Given the description of an element on the screen output the (x, y) to click on. 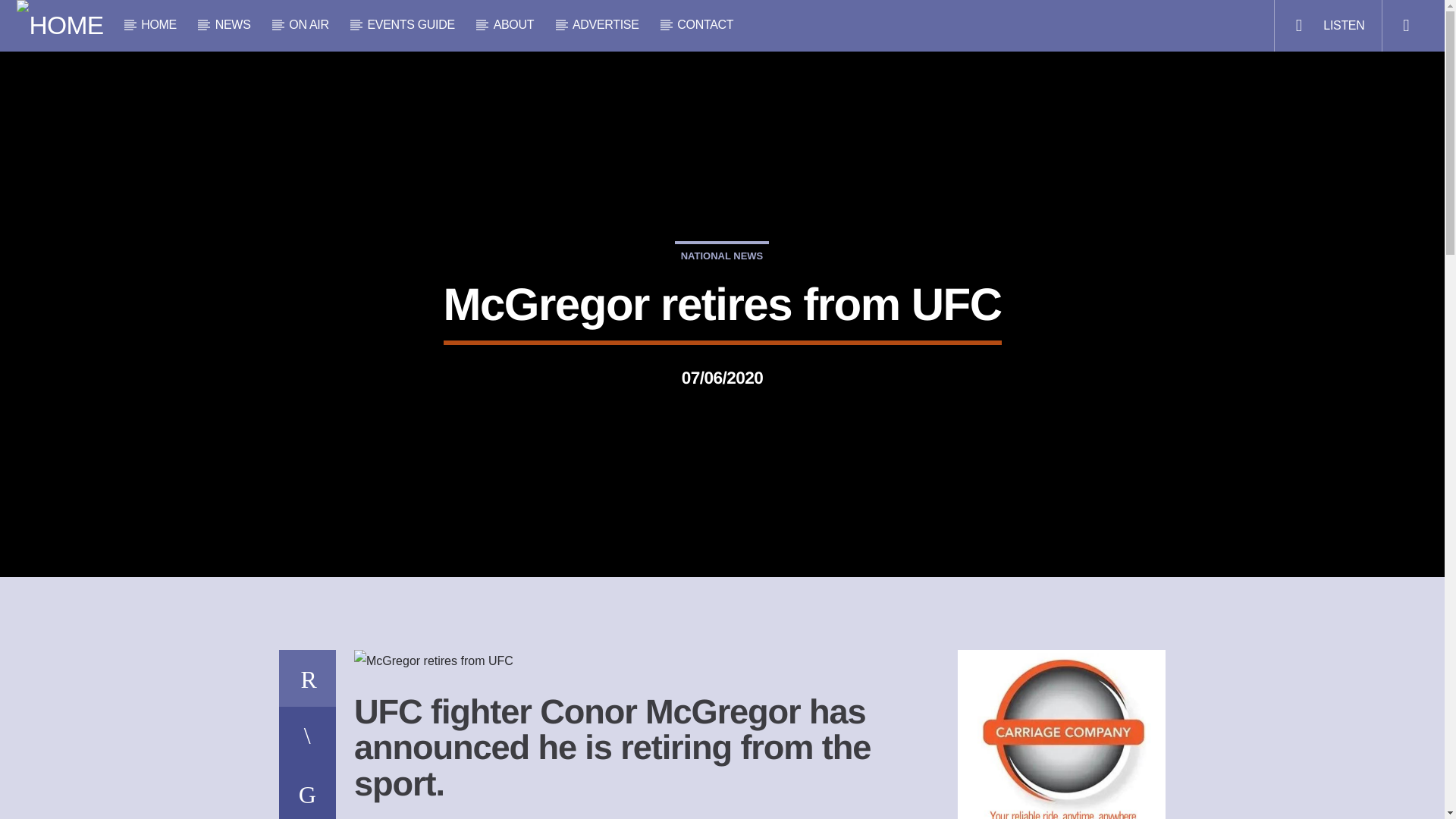
CONTACT (706, 24)
ON AIR (309, 24)
ADVERTISE (606, 24)
EVENTS GUIDE (410, 24)
LISTEN (1327, 25)
ABOUT (513, 24)
NEWS (232, 24)
HOME (158, 24)
